Given the description of an element on the screen output the (x, y) to click on. 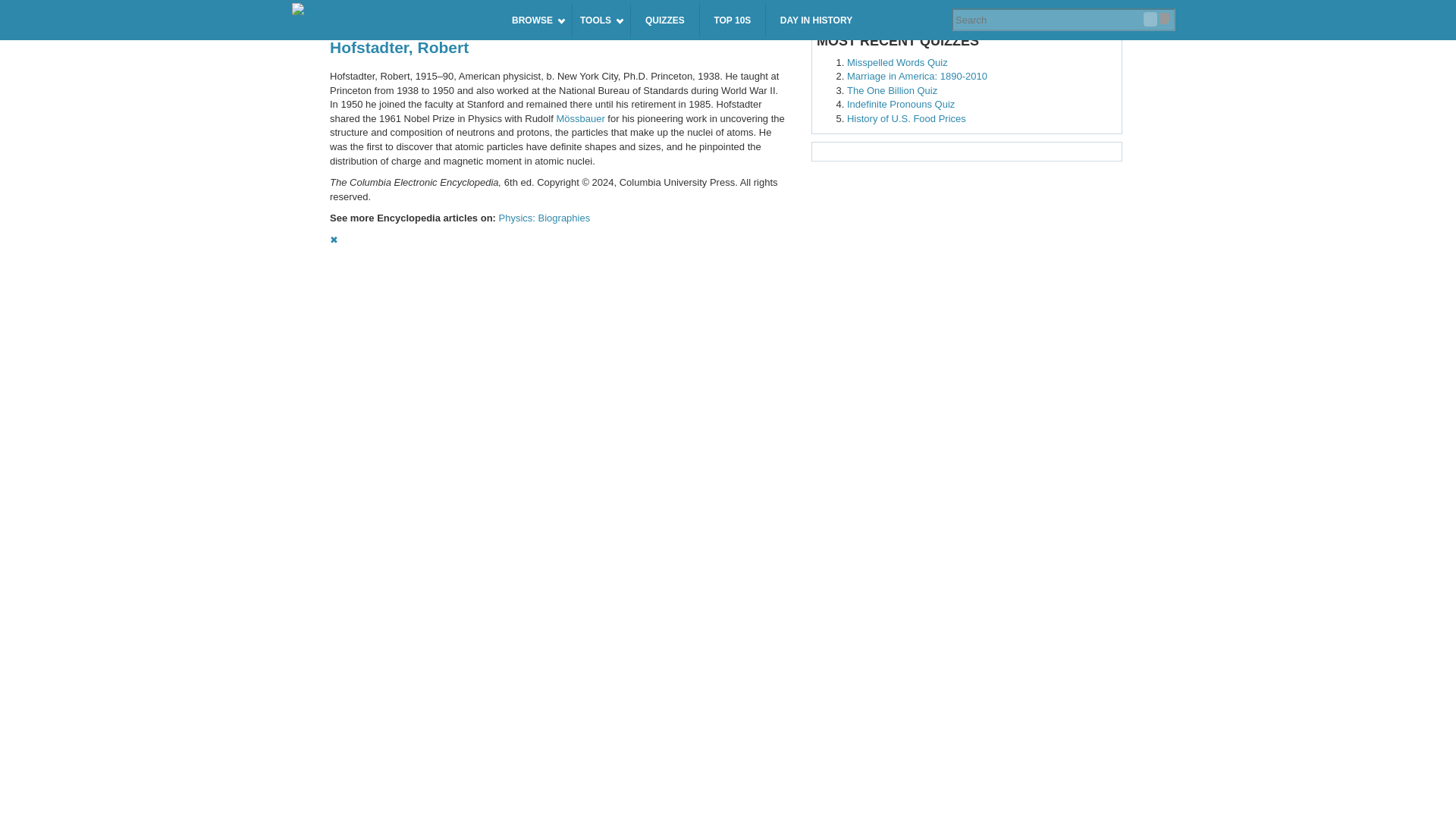
Search (1149, 19)
Home (392, 11)
